Given the description of an element on the screen output the (x, y) to click on. 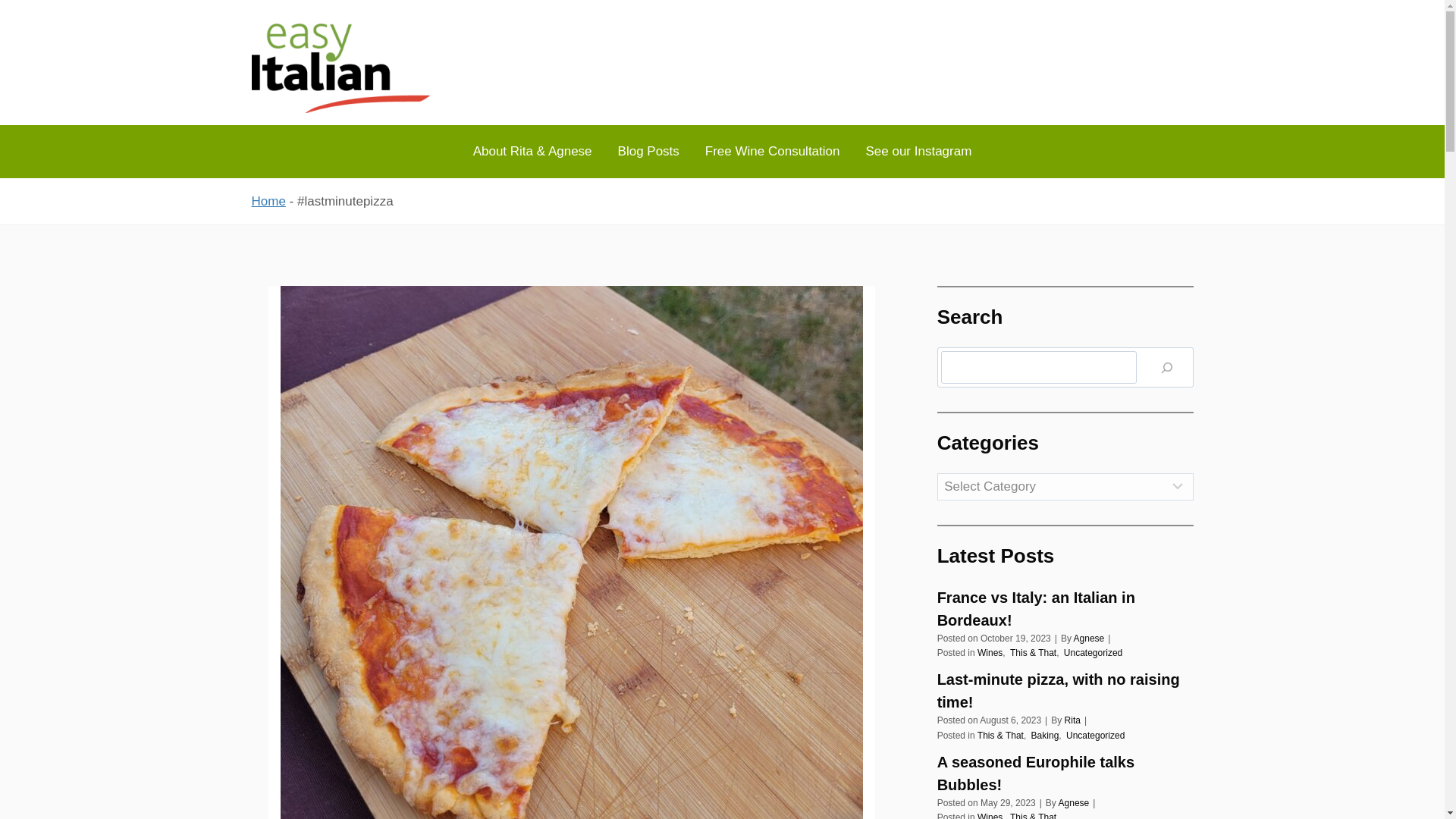
Uncategorized (1093, 652)
Baking (1044, 734)
Wines (989, 652)
Agnese (1073, 802)
Last-minute pizza, with no raising time! (1065, 690)
Home (268, 201)
See our Instagram (917, 151)
Wines (989, 815)
Rita (1072, 719)
Uncategorized (1094, 734)
Blog Posts (649, 151)
France vs Italy: an Italian in Bordeaux! (1065, 608)
Agnese (1089, 638)
Free Wine Consultation (773, 151)
A seasoned Europhile talks Bubbles! (1065, 773)
